Given the description of an element on the screen output the (x, y) to click on. 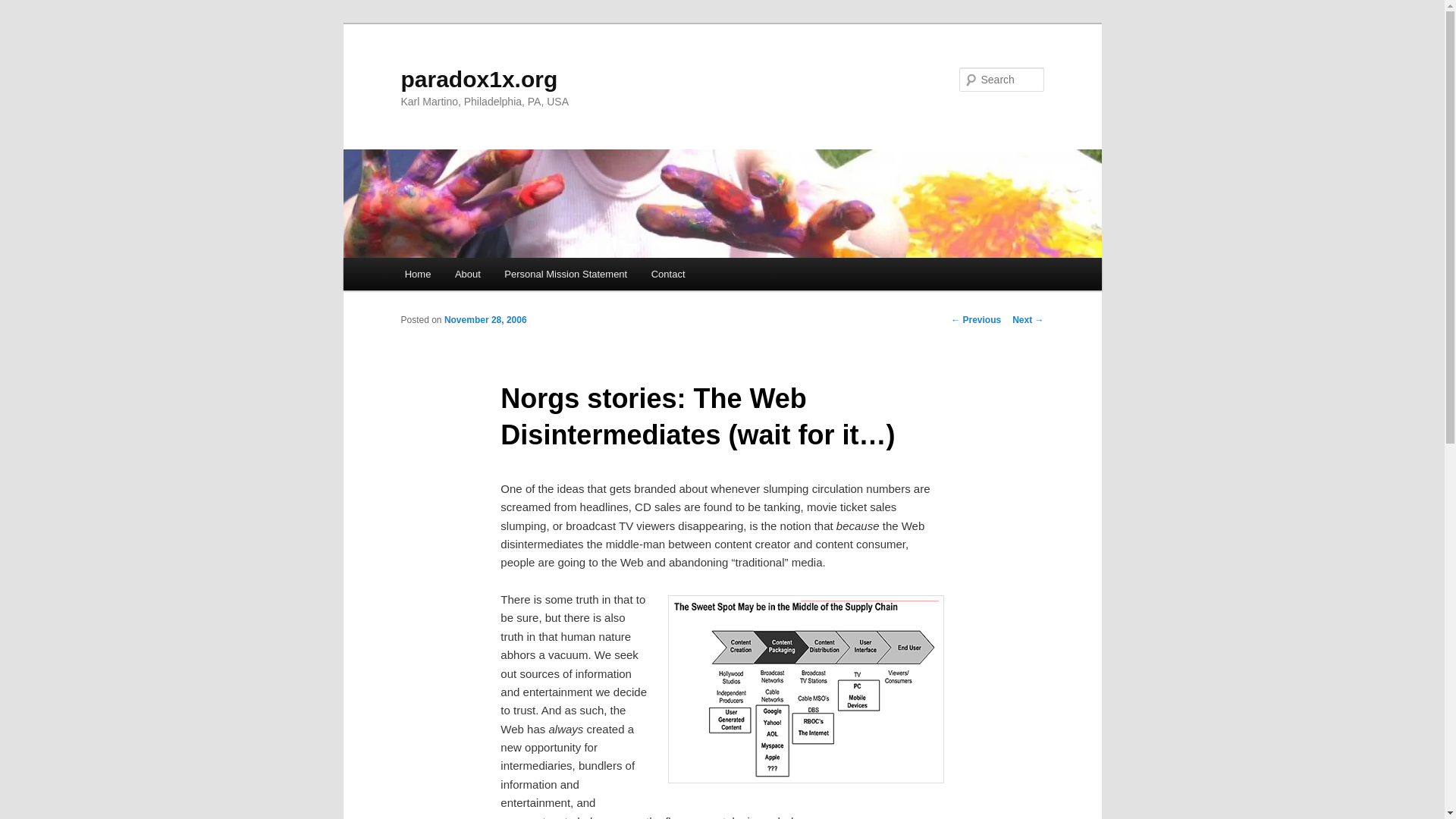
Home (417, 273)
Personal Mission Statement (566, 273)
6:44 am (485, 319)
About (467, 273)
paradox1x.org (478, 78)
Search (24, 8)
Contact (668, 273)
November 28, 2006 (485, 319)
